Given the description of an element on the screen output the (x, y) to click on. 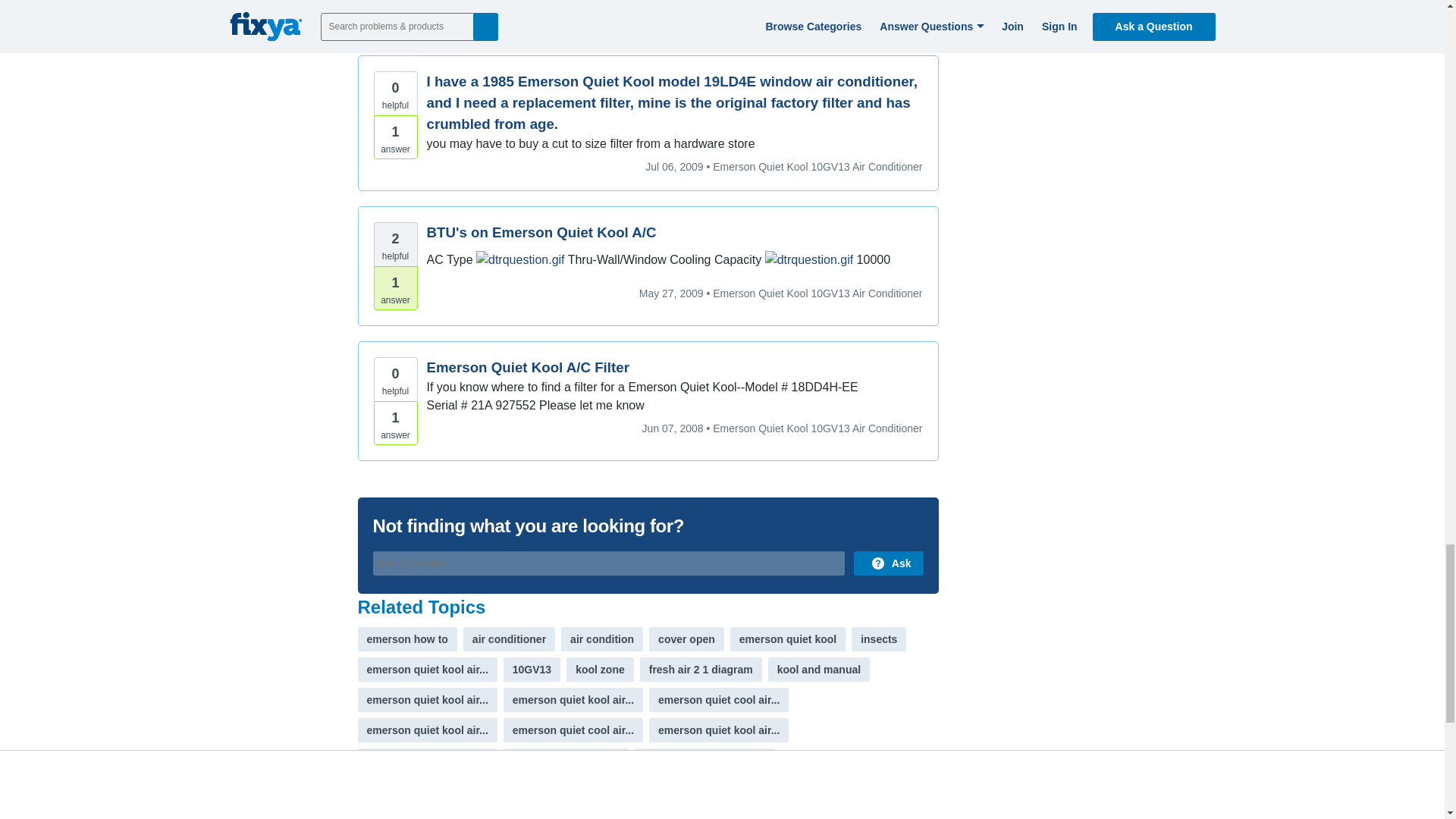
Ask (888, 563)
